Given the description of an element on the screen output the (x, y) to click on. 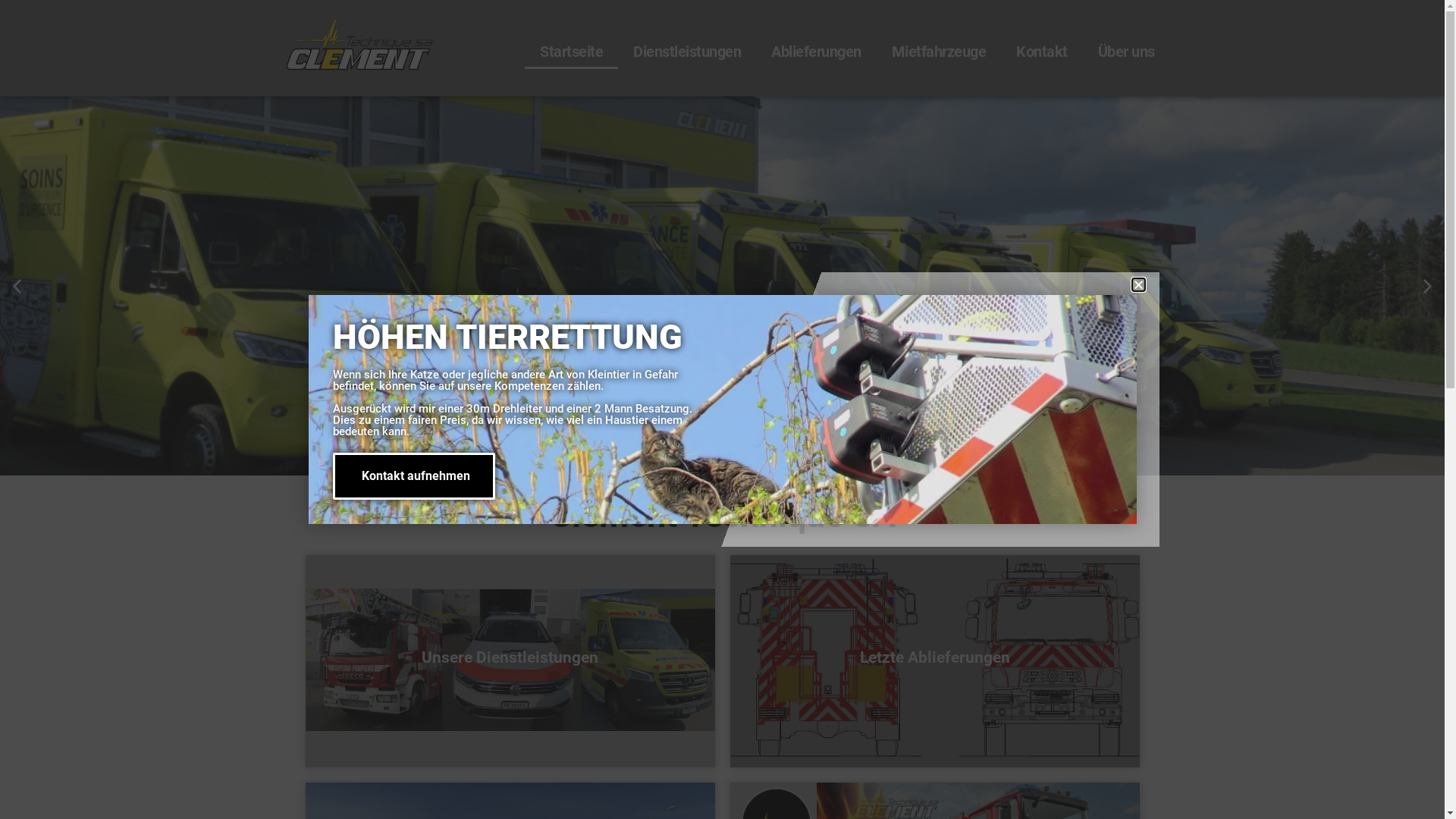
Mietfahrzeuge Element type: text (938, 51)
Dienstleistungen Element type: text (687, 51)
Kontakt Element type: text (1041, 51)
Kontakt aufnehmen Element type: text (413, 474)
Ablieferungen Element type: text (816, 51)
Startseite Element type: text (571, 51)
